Given the description of an element on the screen output the (x, y) to click on. 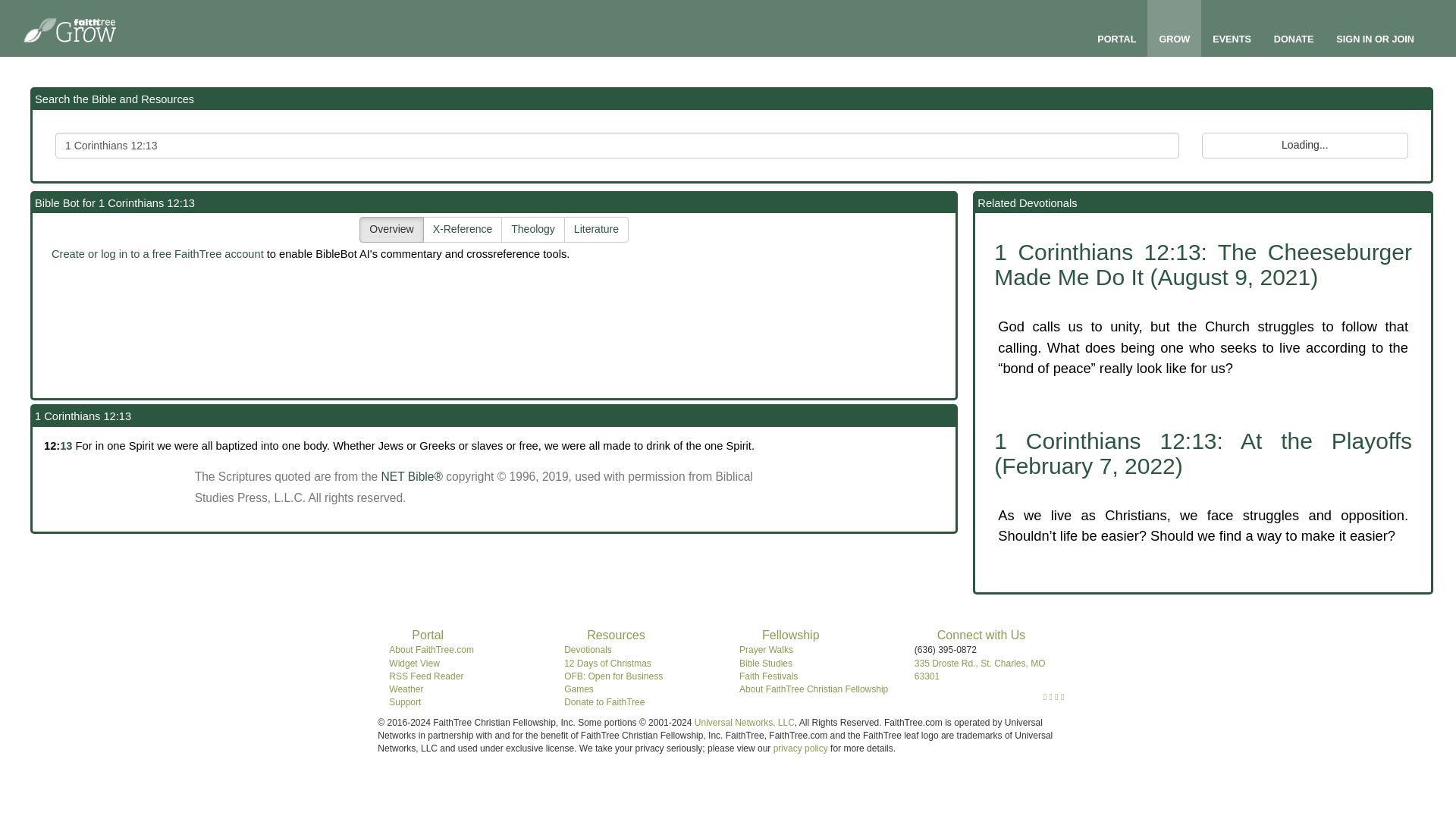
Support (404, 701)
Overview (391, 229)
Connect with Us (981, 634)
Games (579, 688)
Donate to FaithTree (604, 701)
1 Corinthians 12:13 (617, 145)
12 Days of Christmas (607, 663)
About FaithTree Christian Fellowship (813, 688)
Theology (532, 229)
SIGN IN OR JOIN (1374, 39)
Faith Festivals (768, 675)
Loading... (1304, 145)
Prayer Walks (766, 649)
335 Droste Rd., St. Charles, MO 63301 (979, 669)
